Given the description of an element on the screen output the (x, y) to click on. 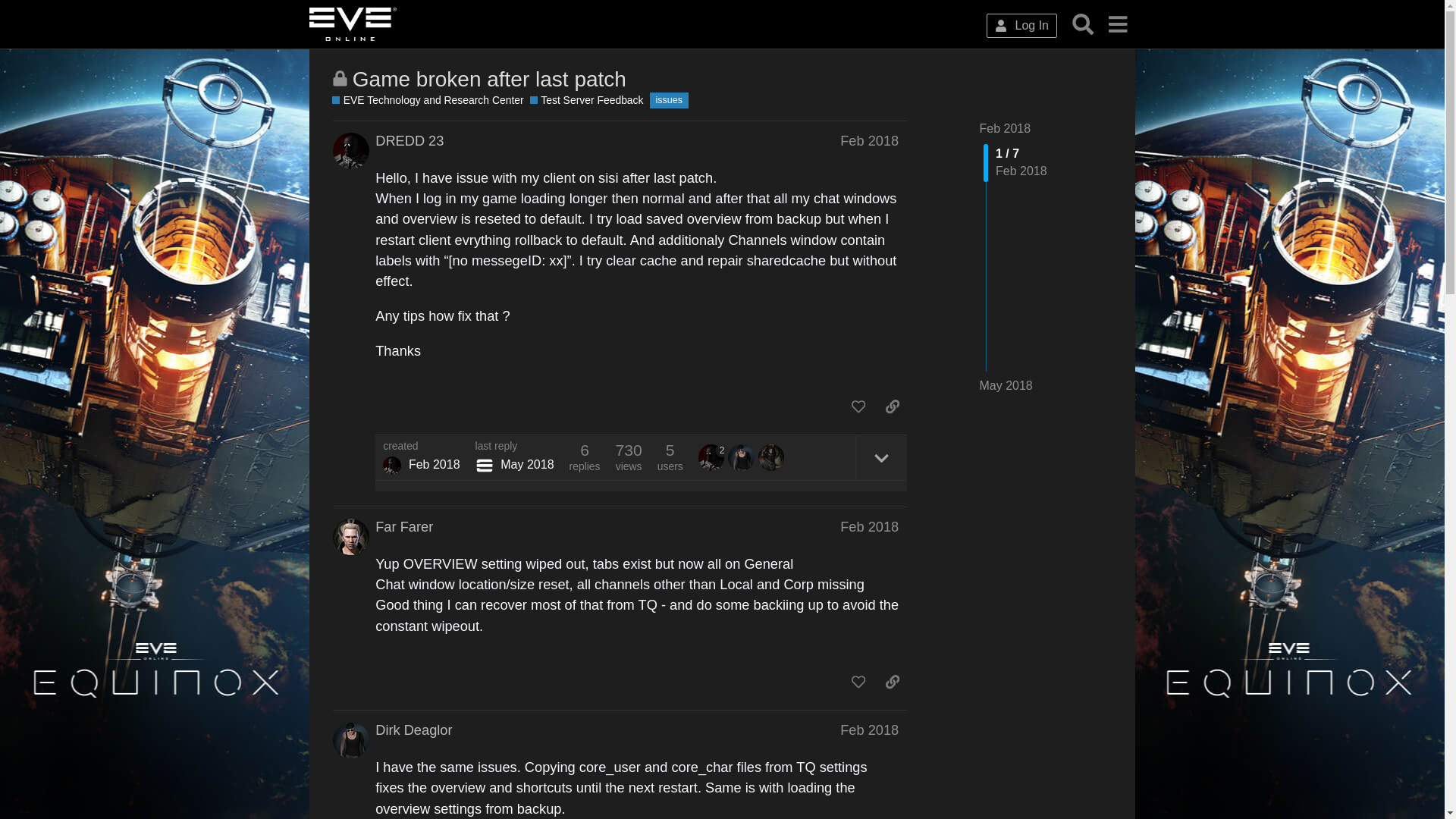
like this post (858, 406)
2 (713, 457)
Feb 22, 2018 6:59 am (869, 140)
May 2018 (1005, 385)
Feb 2018 (869, 526)
Search (1082, 23)
Feb 2018 (869, 141)
Far Farer (403, 526)
expand topic details (881, 456)
copy a link to this post to clipboard (892, 406)
Dirk Deaglor (413, 730)
menu (1117, 23)
Jump to the first post (1004, 128)
Game broken after last patch (489, 78)
Feb 22, 2018 6:59 am (434, 463)
